Given the description of an element on the screen output the (x, y) to click on. 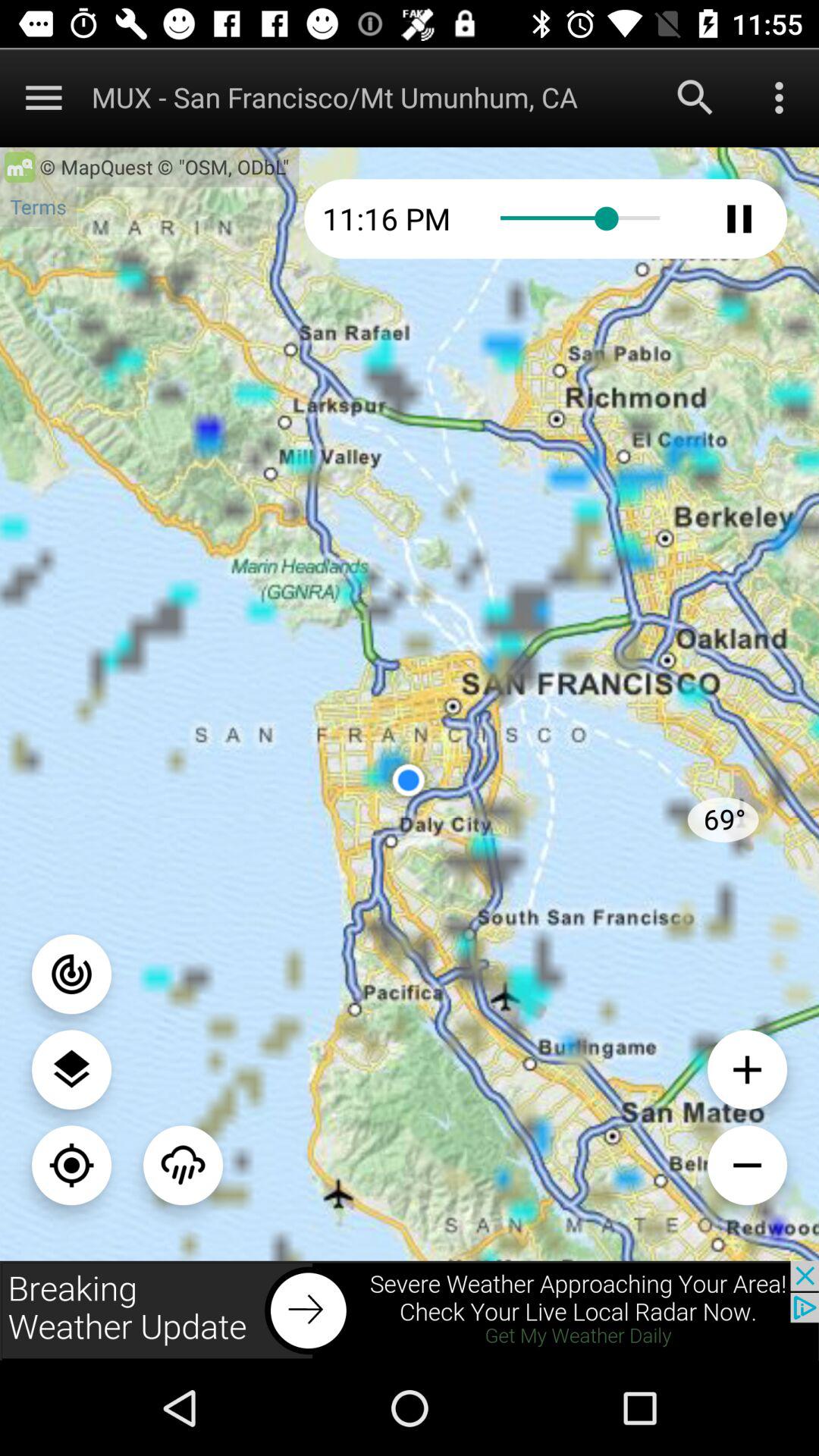
show your location (71, 1165)
